Given the description of an element on the screen output the (x, y) to click on. 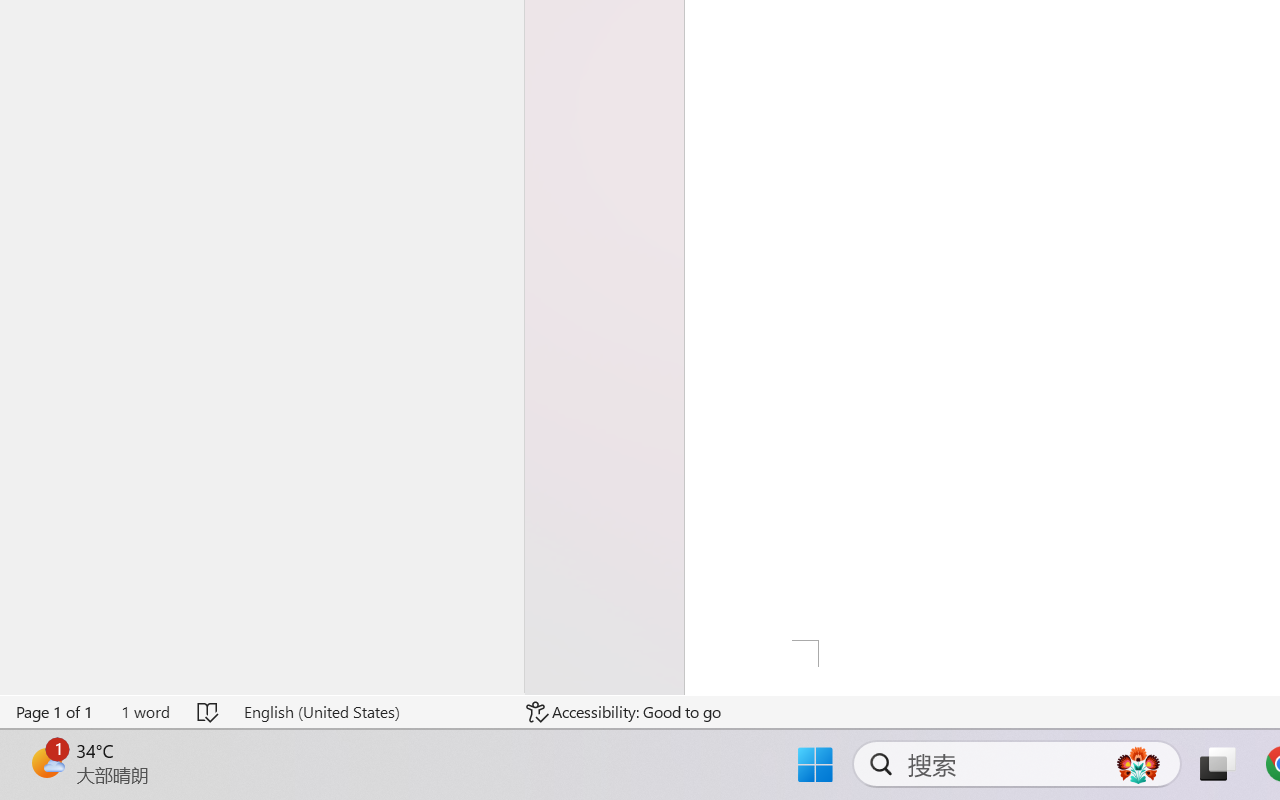
Spelling and Grammar Check No Errors (208, 712)
Language English (United States) (370, 712)
Accessibility Checker Accessibility: Good to go (623, 712)
AutomationID: BadgeAnchorLargeTicker (46, 762)
Word Count 1 word (145, 712)
AutomationID: DynamicSearchBoxGleamImage (1138, 764)
Page Number Page 1 of 1 (55, 712)
